Given the description of an element on the screen output the (x, y) to click on. 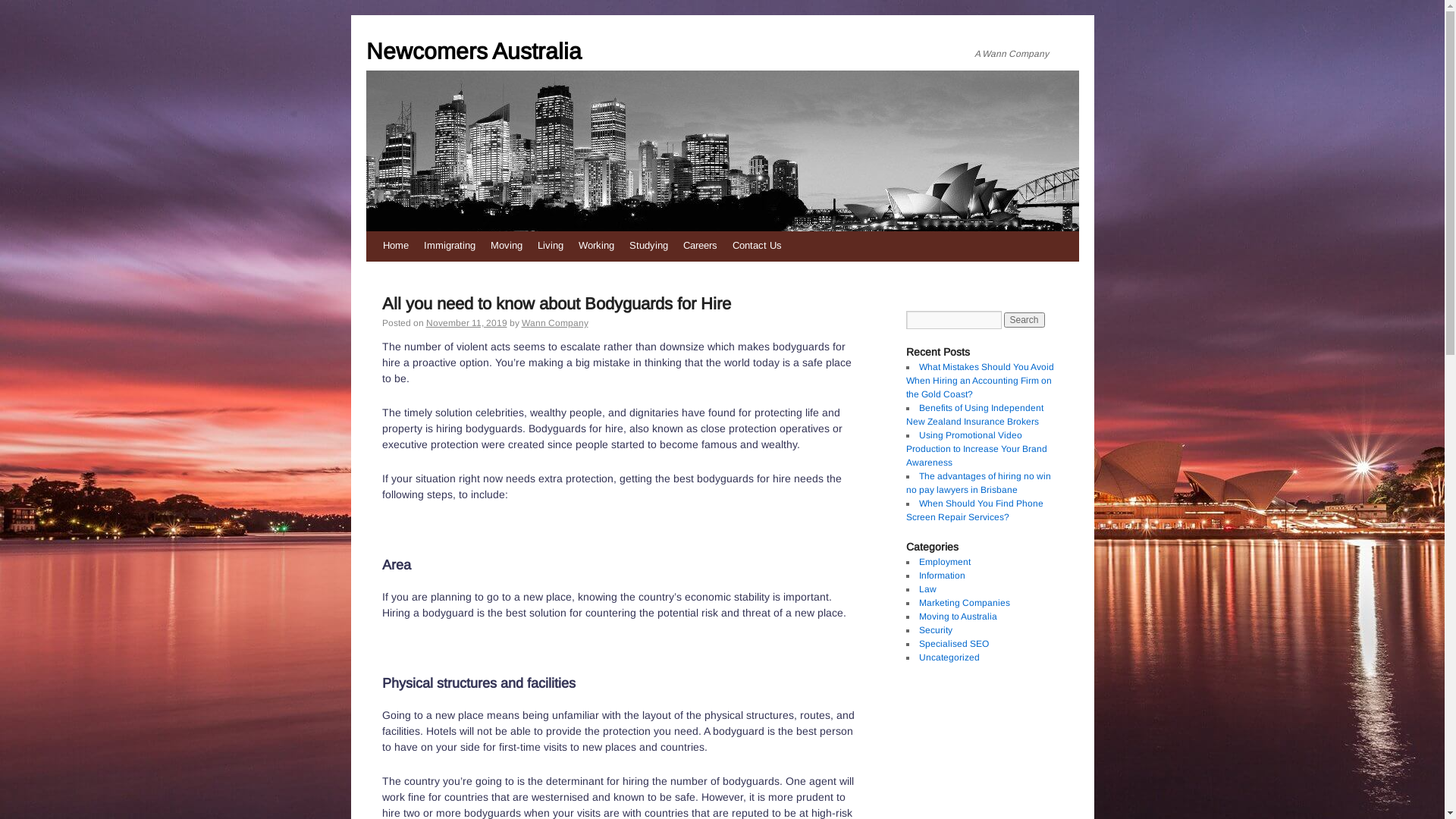
Search Element type: text (1024, 319)
The advantages of hiring no win no pay lawyers in Brisbane Element type: text (977, 482)
Marketing Companies Element type: text (964, 602)
Careers Element type: text (699, 245)
Uncategorized Element type: text (949, 657)
Information Element type: text (942, 575)
When Should You Find Phone Screen Repair Services? Element type: text (973, 510)
Employment Element type: text (944, 561)
Benefits of Using Independent New Zealand Insurance Brokers Element type: text (973, 414)
Security Element type: text (935, 629)
Wann Company Element type: text (554, 322)
Home Element type: text (394, 245)
Specialised SEO Element type: text (953, 643)
Newcomers Australia Element type: text (535, 51)
Working Element type: text (595, 245)
Moving to Australia Element type: text (958, 616)
Contact Us Element type: text (756, 245)
Moving Element type: text (505, 245)
Immigrating Element type: text (448, 245)
Studying Element type: text (648, 245)
Living Element type: text (549, 245)
Law Element type: text (927, 588)
November 11, 2019 Element type: text (466, 322)
